Given the description of an element on the screen output the (x, y) to click on. 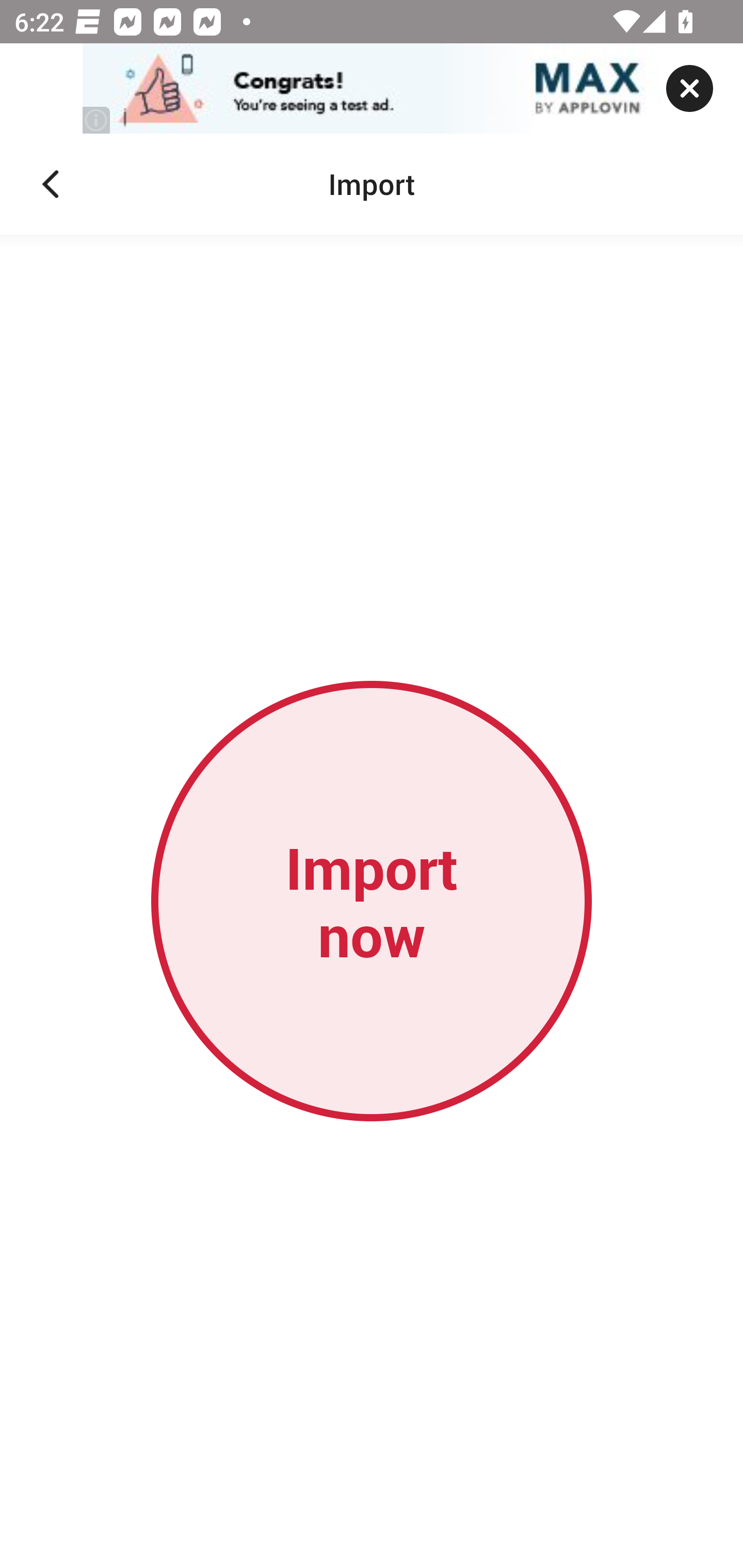
app-monetization (371, 88)
(i) (96, 119)
Navigate up (50, 184)
